Given the description of an element on the screen output the (x, y) to click on. 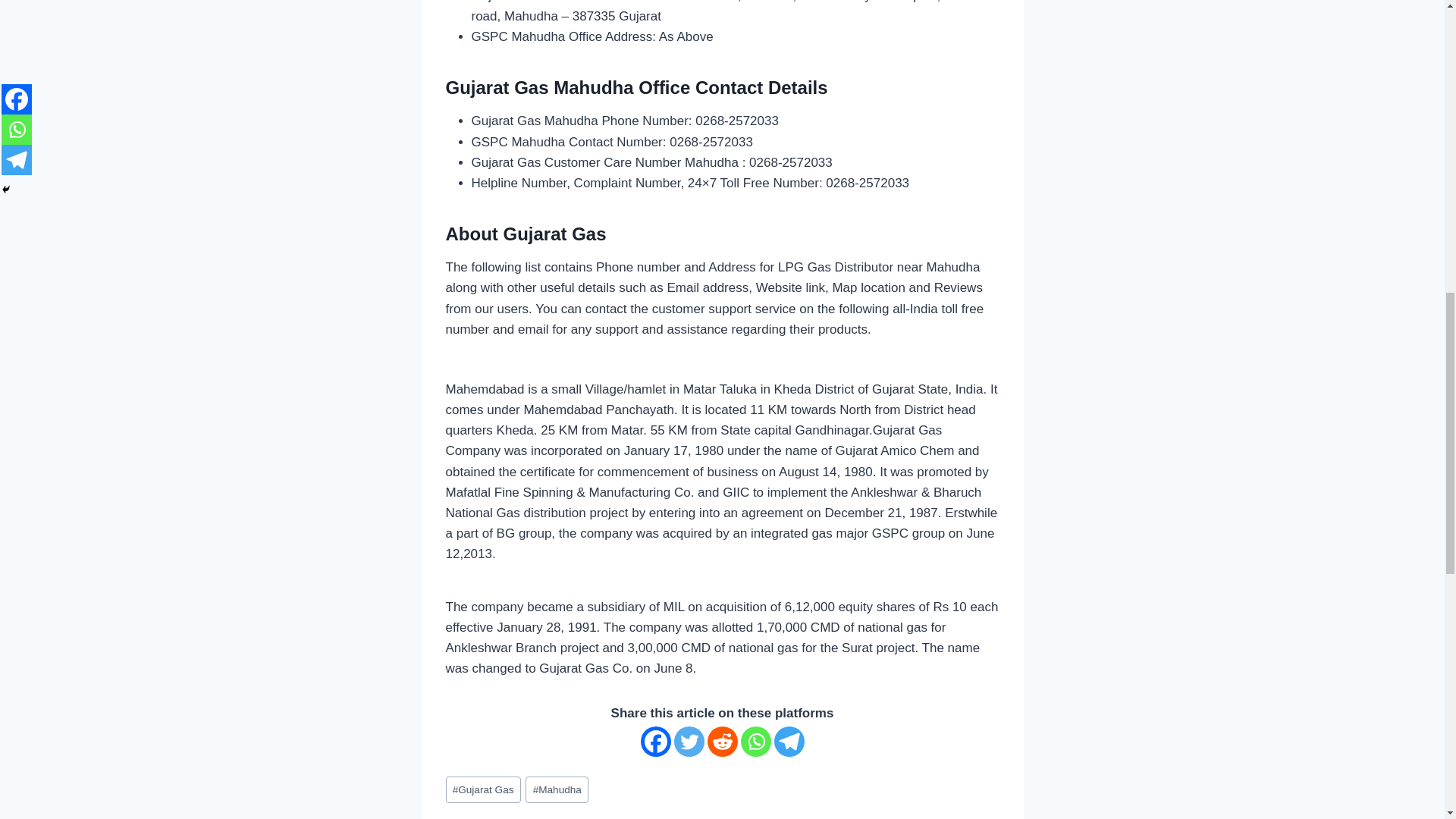
Telegram (788, 741)
Gujarat Gas (483, 789)
Mahudha (556, 789)
Twitter (687, 741)
Whatsapp (754, 741)
Facebook (654, 741)
Reddit (721, 741)
